Given the description of an element on the screen output the (x, y) to click on. 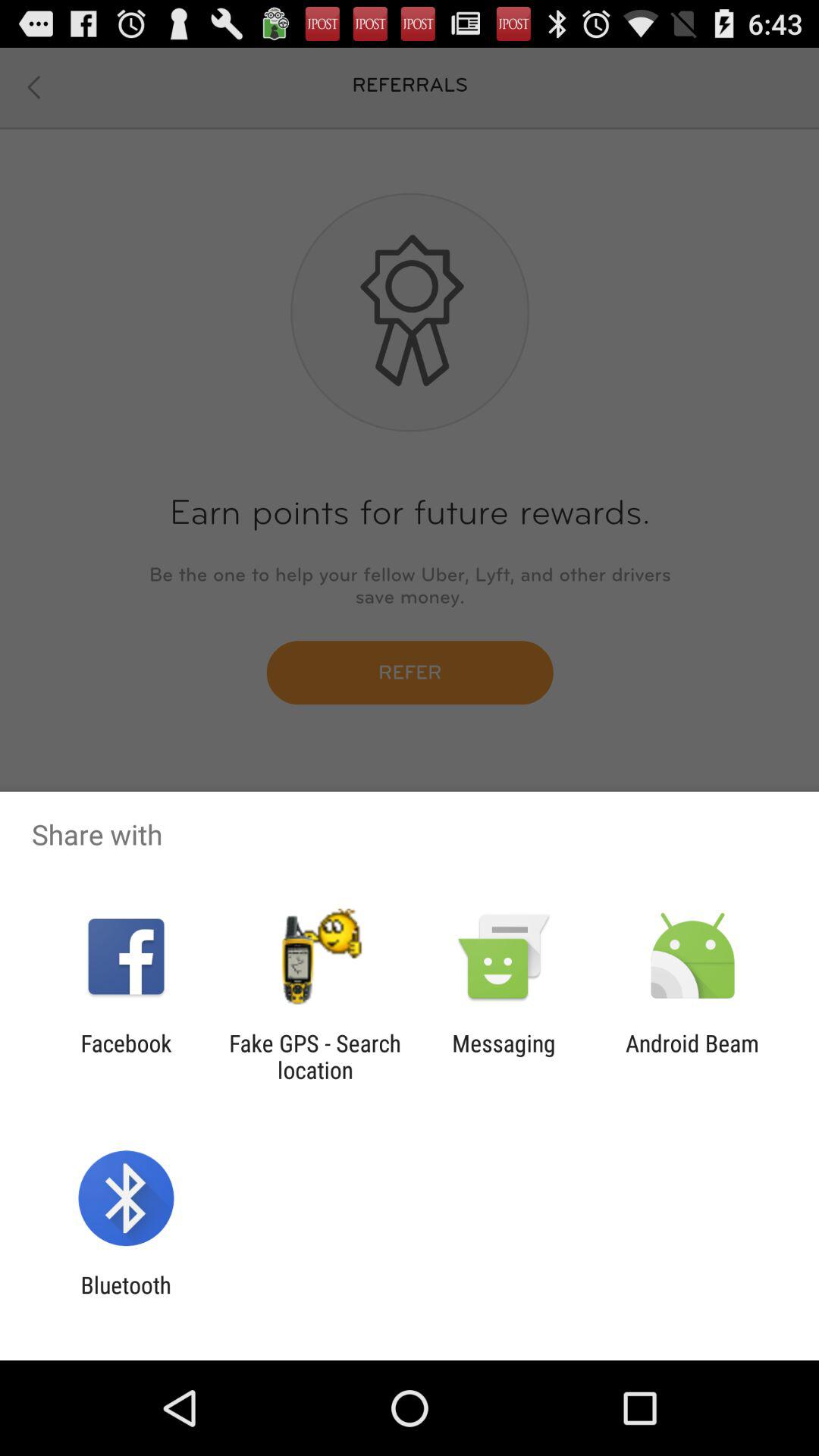
tap icon at the bottom right corner (692, 1056)
